Given the description of an element on the screen output the (x, y) to click on. 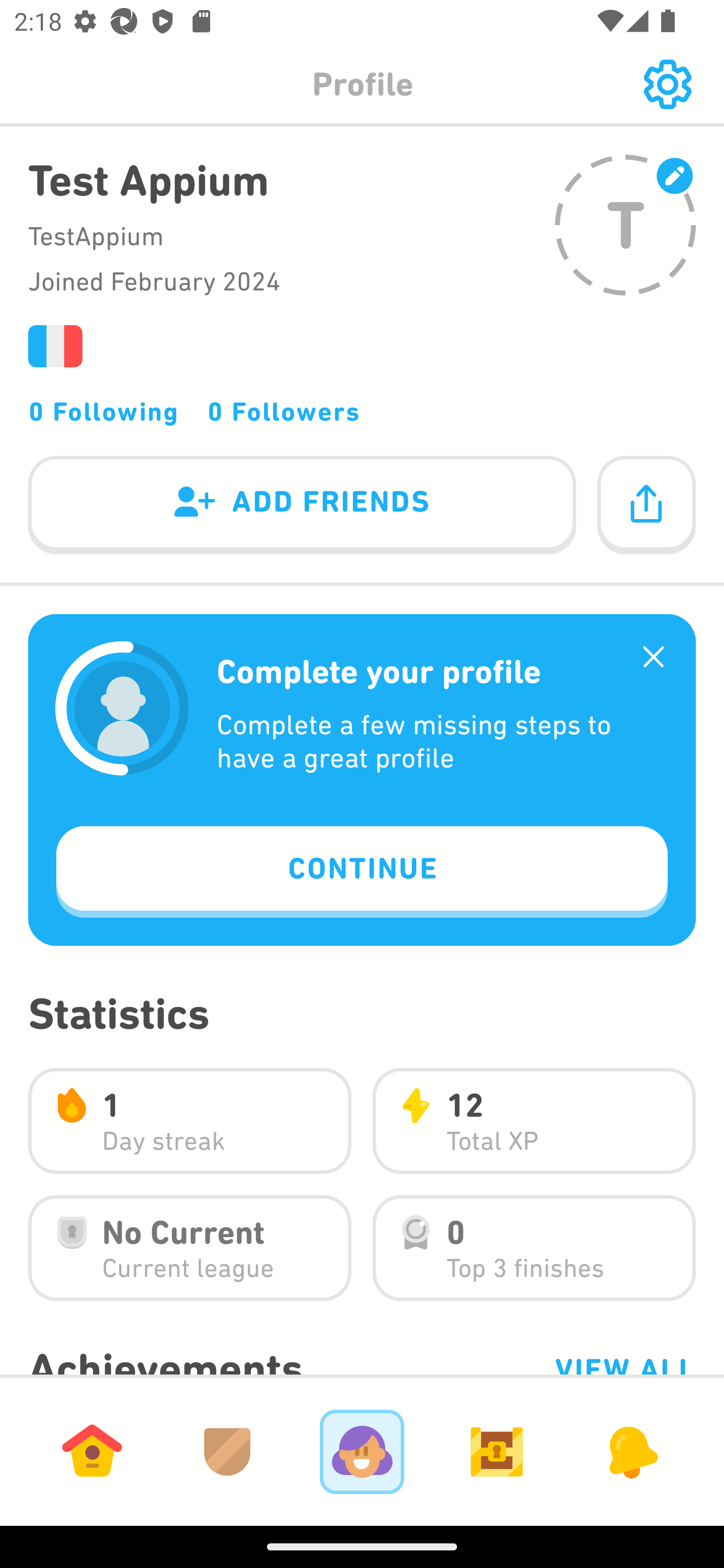
Settings (667, 84)
0 Following (103, 411)
0 Followers (283, 411)
ADD FRIENDS (302, 505)
CONTINUE (361, 871)
1 Day streak (189, 1120)
Learn Tab (91, 1451)
Leagues Tab (227, 1451)
Profile Tab (361, 1451)
Goals Tab (496, 1451)
News Tab (631, 1451)
